Given the description of an element on the screen output the (x, y) to click on. 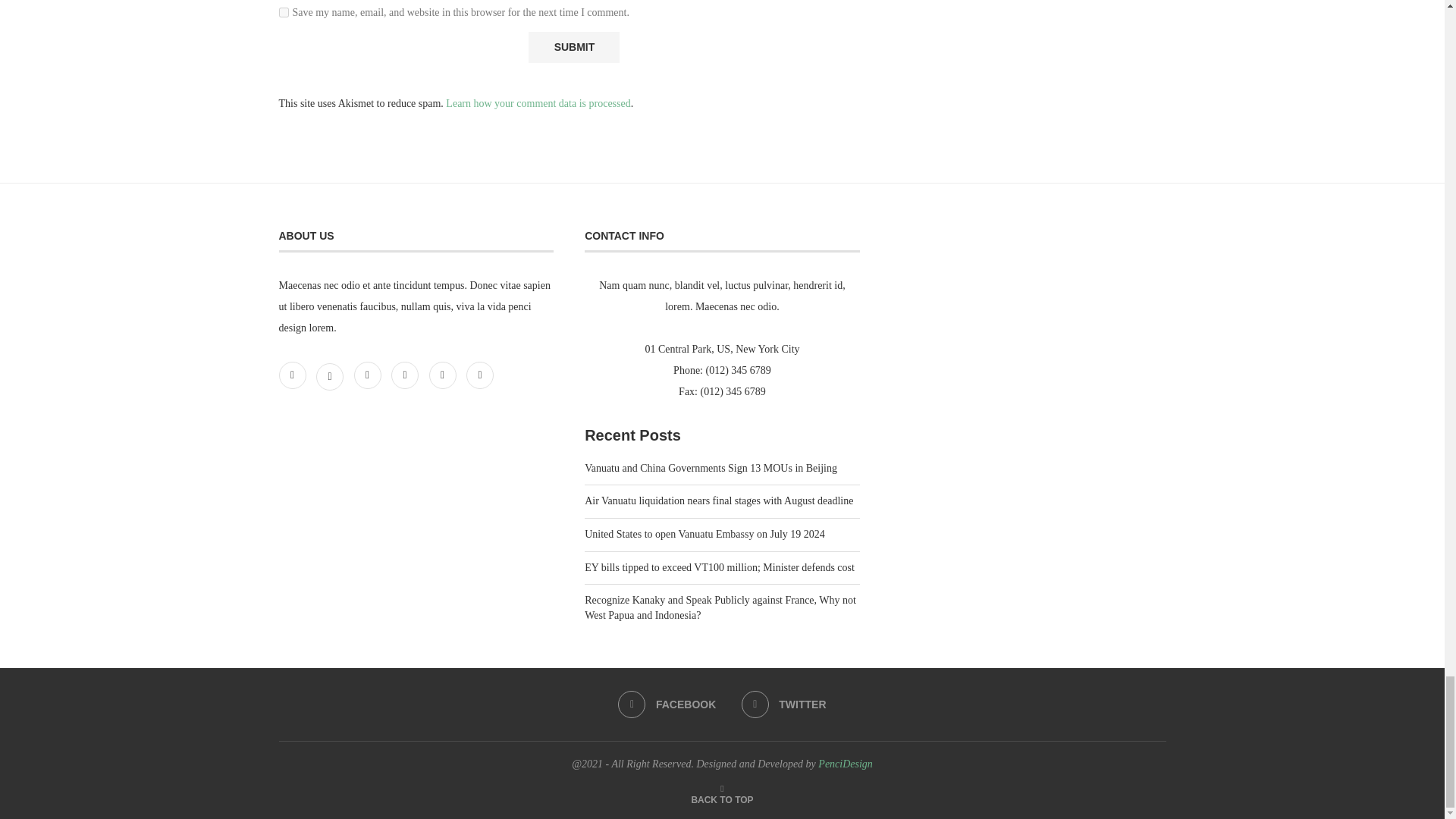
yes (283, 12)
Submit (574, 47)
